Given the description of an element on the screen output the (x, y) to click on. 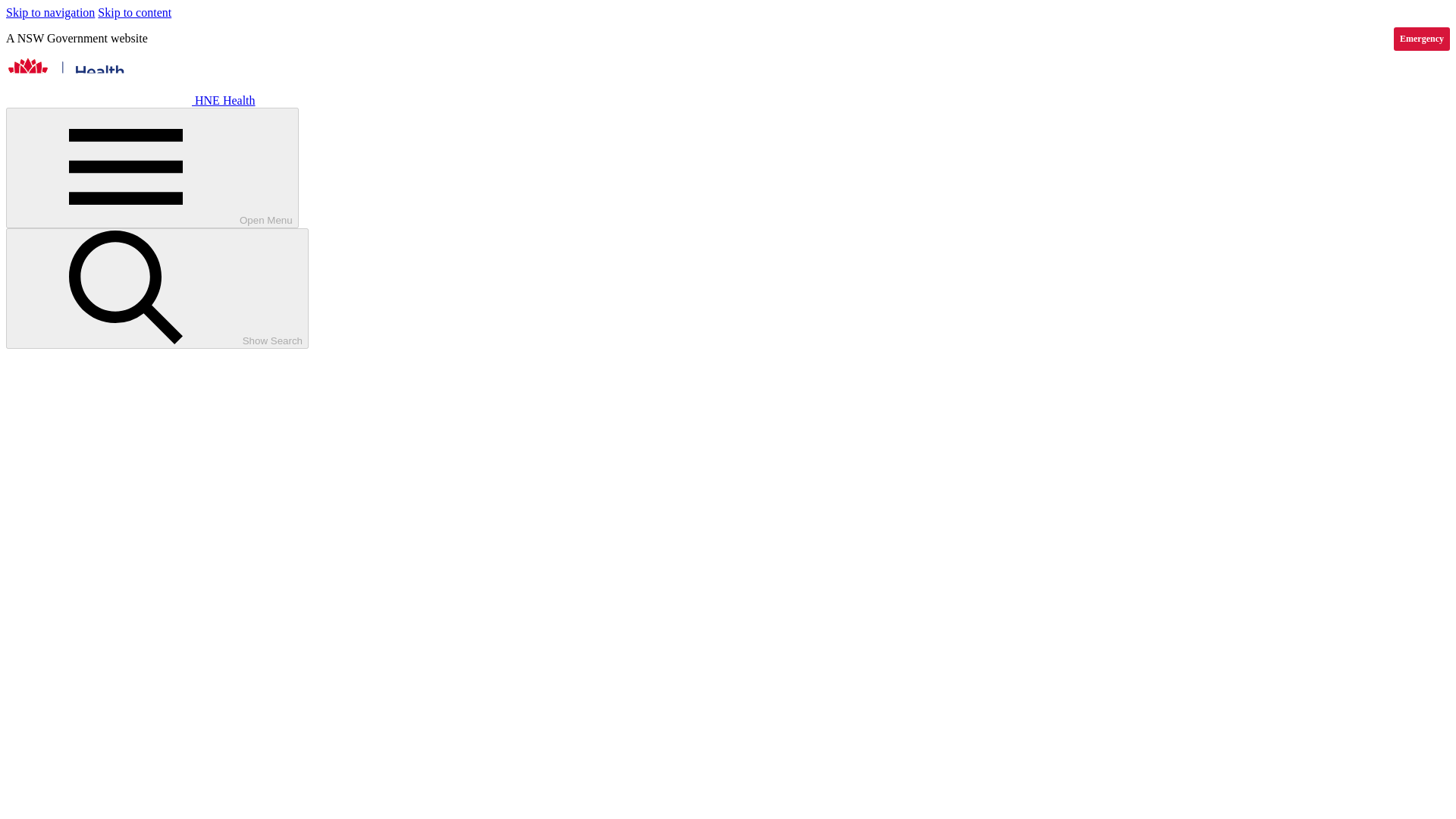
Open Menu (151, 167)
Skip to content (134, 11)
HNE Health (130, 100)
Skip to navigation (49, 11)
